Given the description of an element on the screen output the (x, y) to click on. 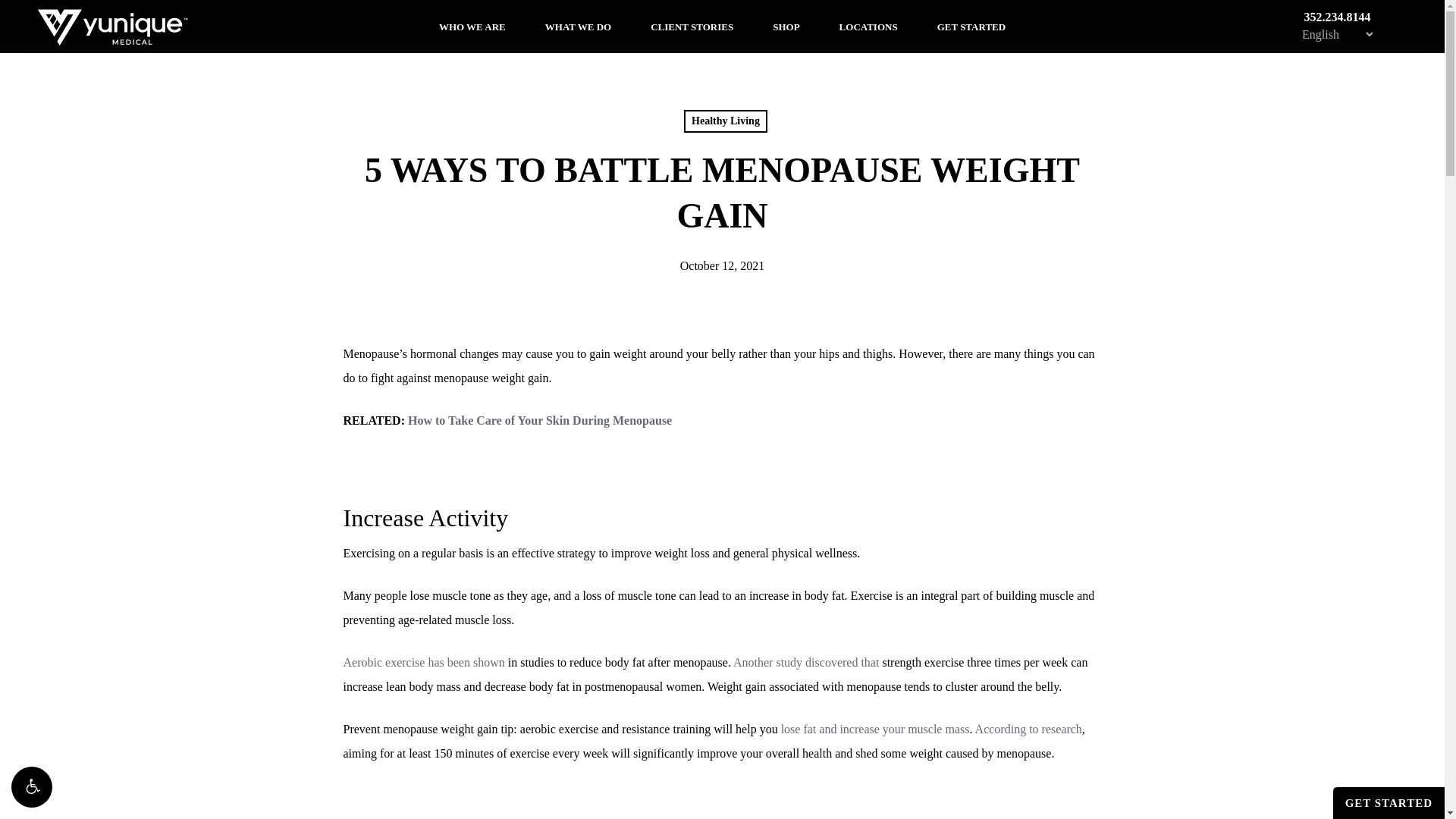
WHO WE ARE (472, 26)
SHOP (785, 26)
WHAT WE DO (577, 26)
CLIENT STORIES (691, 26)
